Given the description of an element on the screen output the (x, y) to click on. 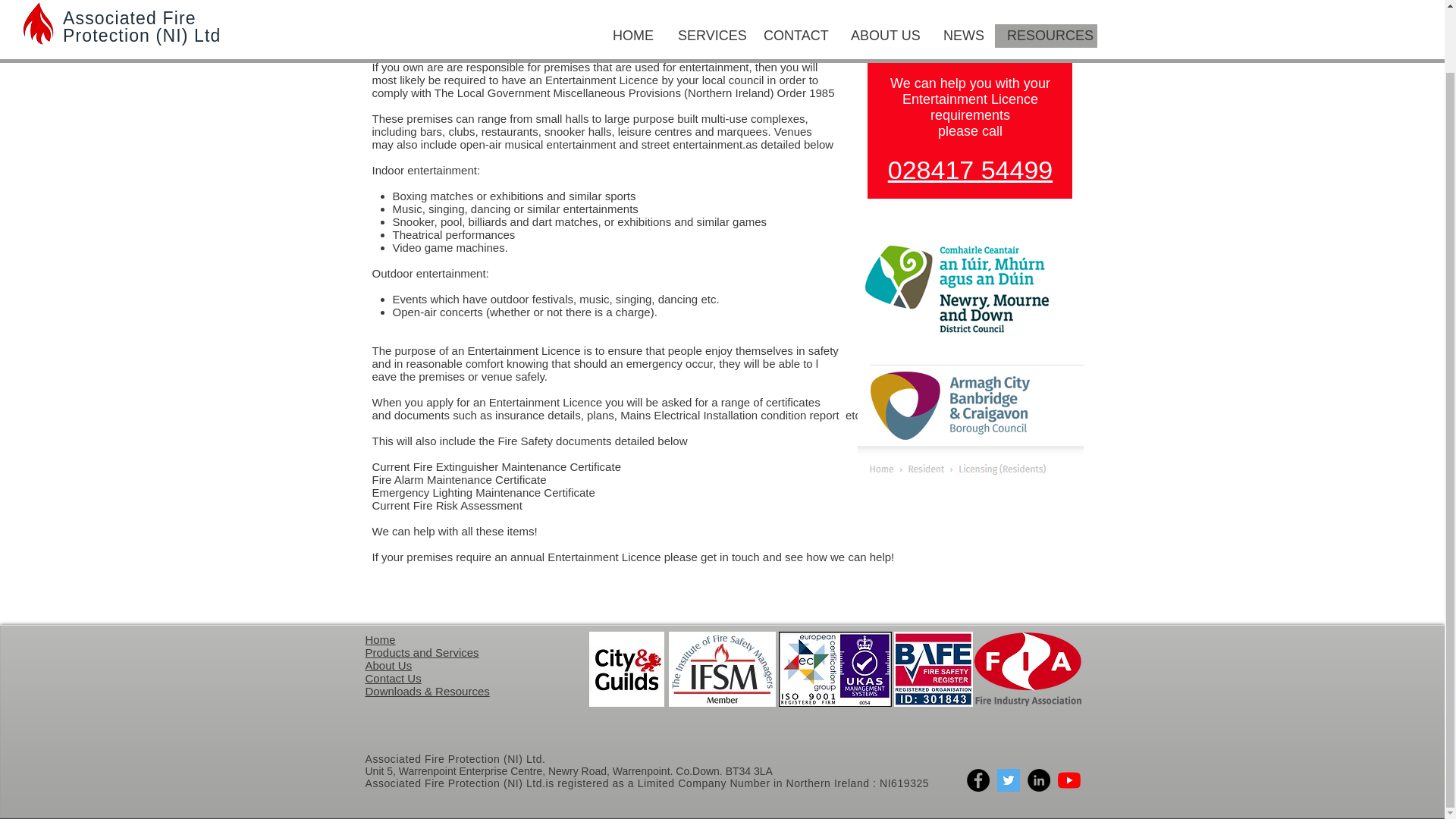
Home (380, 639)
028417 54499 (970, 169)
About Us (388, 665)
Products and Services (422, 652)
Contact Us (393, 677)
